Given the description of an element on the screen output the (x, y) to click on. 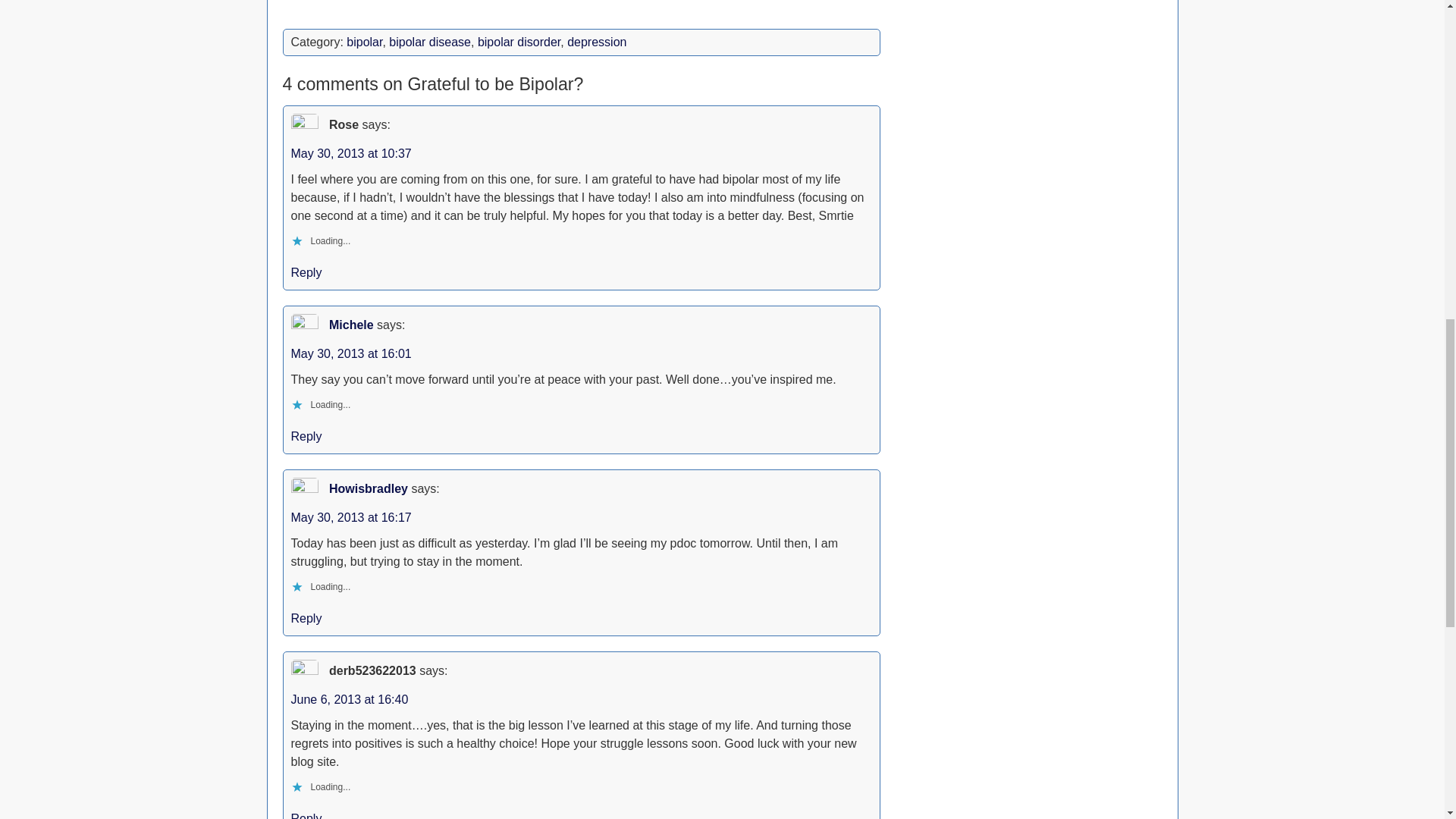
bipolar disease (429, 42)
depression (596, 42)
bipolar disorder (518, 42)
Michele (351, 324)
Reply (306, 272)
May 30, 2013 at 16:17 (351, 517)
Reply (306, 436)
bipolar (363, 42)
May 30, 2013 at 10:37 (351, 153)
Reply (306, 815)
